Given the description of an element on the screen output the (x, y) to click on. 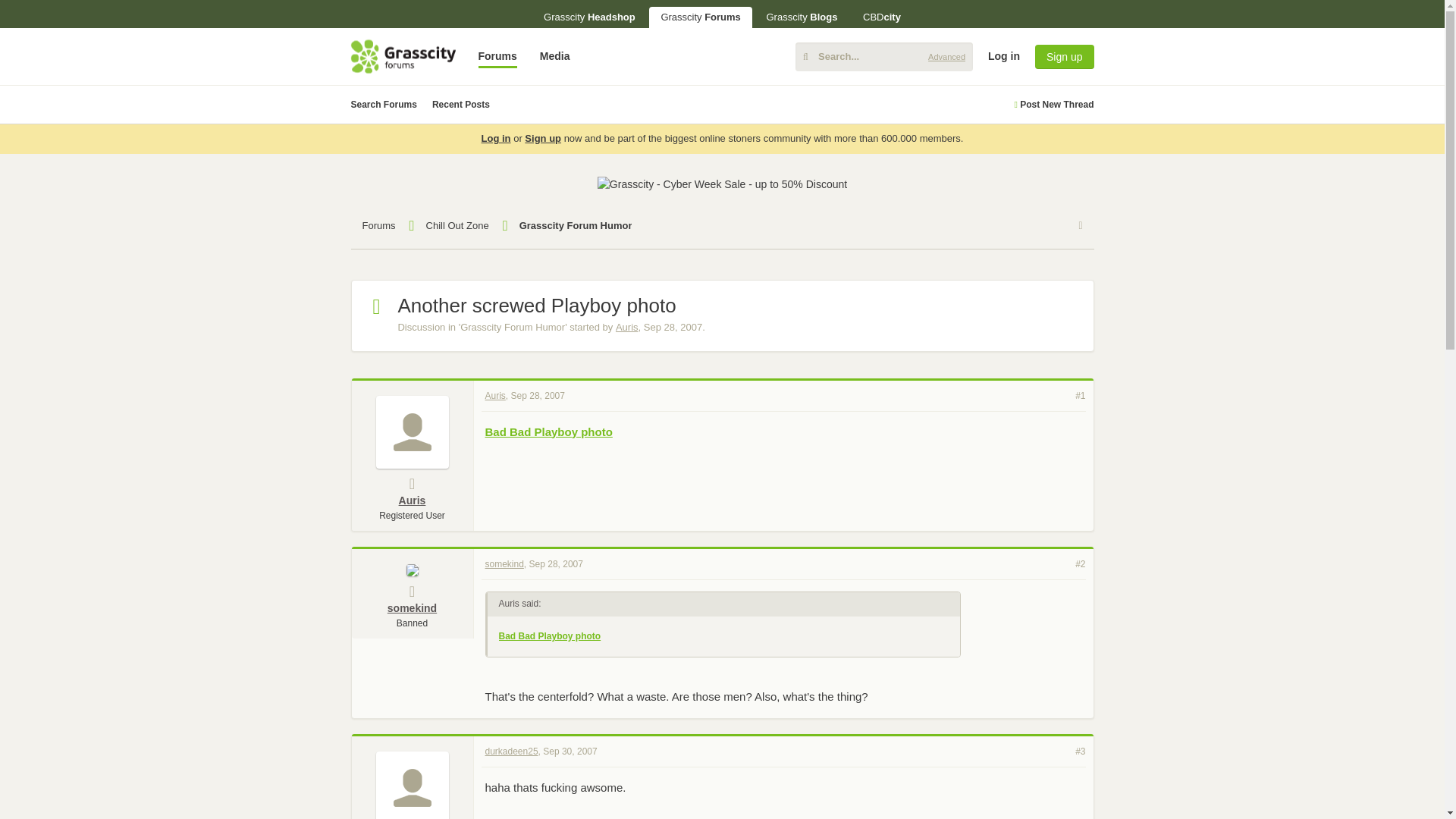
Grasscity Headshop (589, 16)
Sep 28, 2007 at 9:33 PM (672, 326)
Forums (497, 56)
Enter your search and hit enter (883, 56)
Sign up (1064, 56)
Advanced (946, 56)
Log in (1316, 172)
Media (554, 56)
Grasscity Forums (700, 16)
Grasscity Blogs (801, 16)
